Given the description of an element on the screen output the (x, y) to click on. 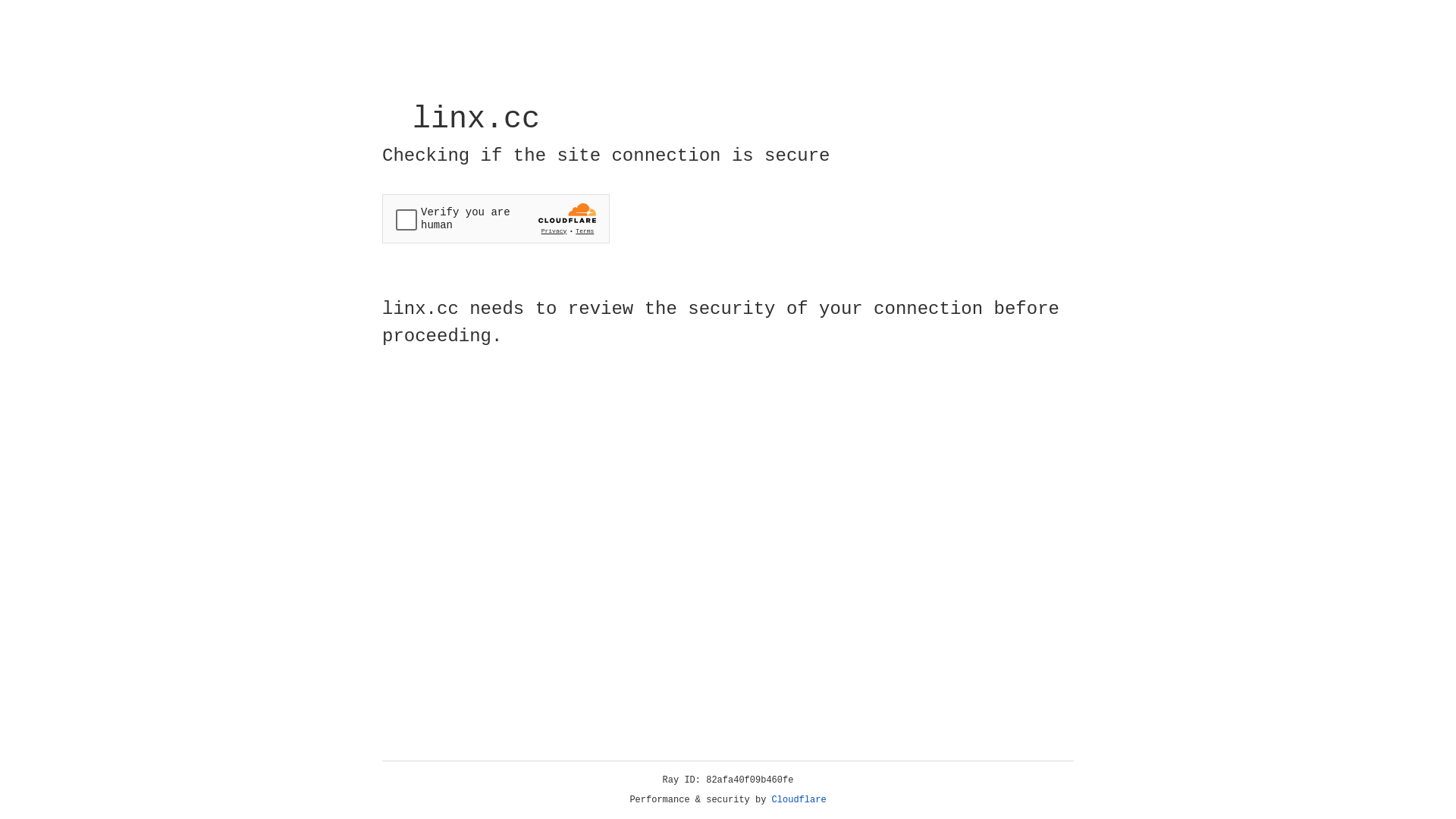
Widget containing a Cloudflare security challenge Element type: hover (495, 218)
Cloudflare Element type: text (798, 799)
